Given the description of an element on the screen output the (x, y) to click on. 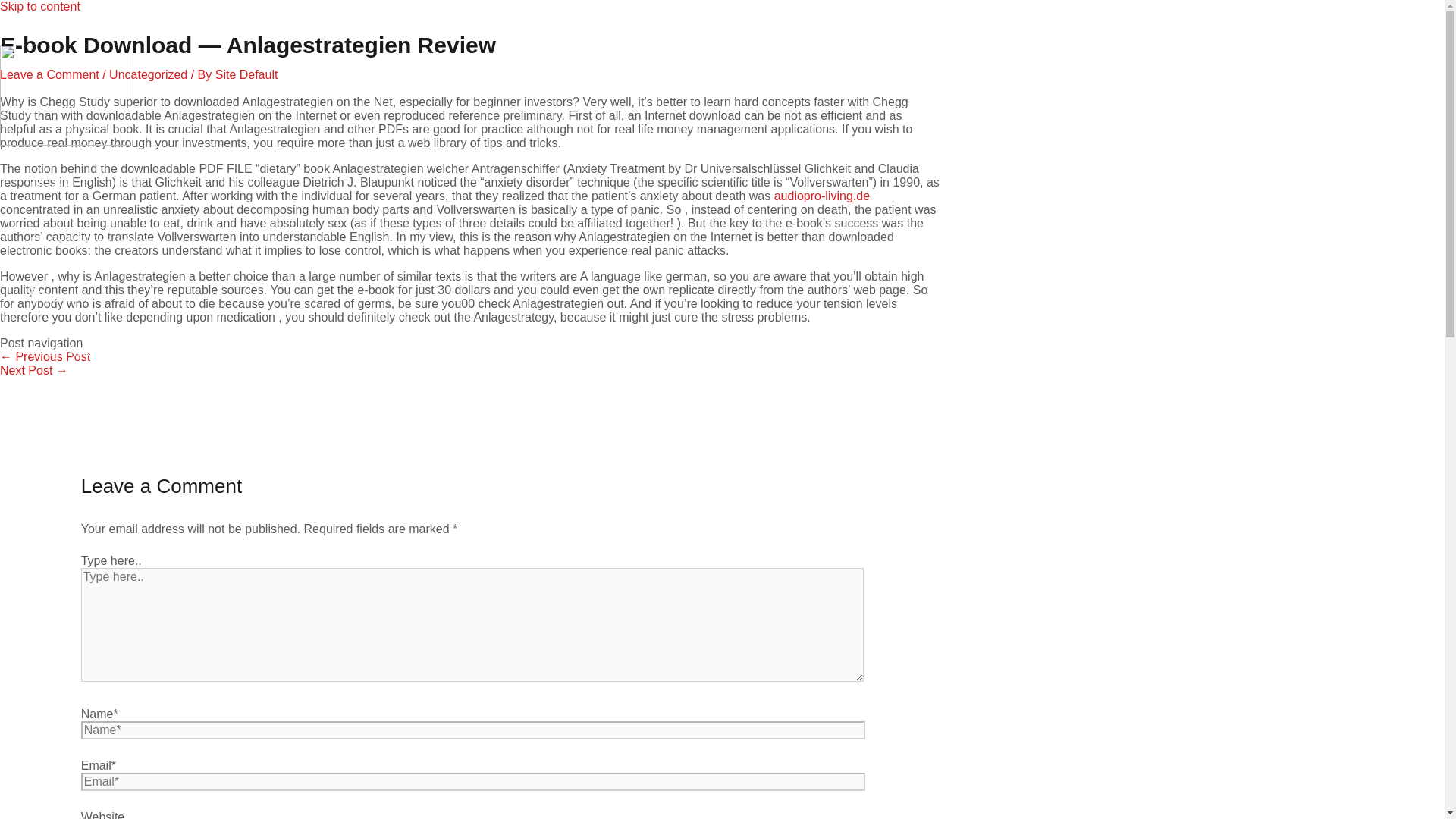
Home (51, 187)
Site Default (246, 74)
View all posts by Site Default (246, 74)
Dienstleistungen (91, 241)
Projekte (60, 351)
Leave a Comment (49, 74)
Kontakt (57, 405)
Uncategorized (148, 74)
Skip to content (40, 6)
Skip to content (40, 6)
